Given the description of an element on the screen output the (x, y) to click on. 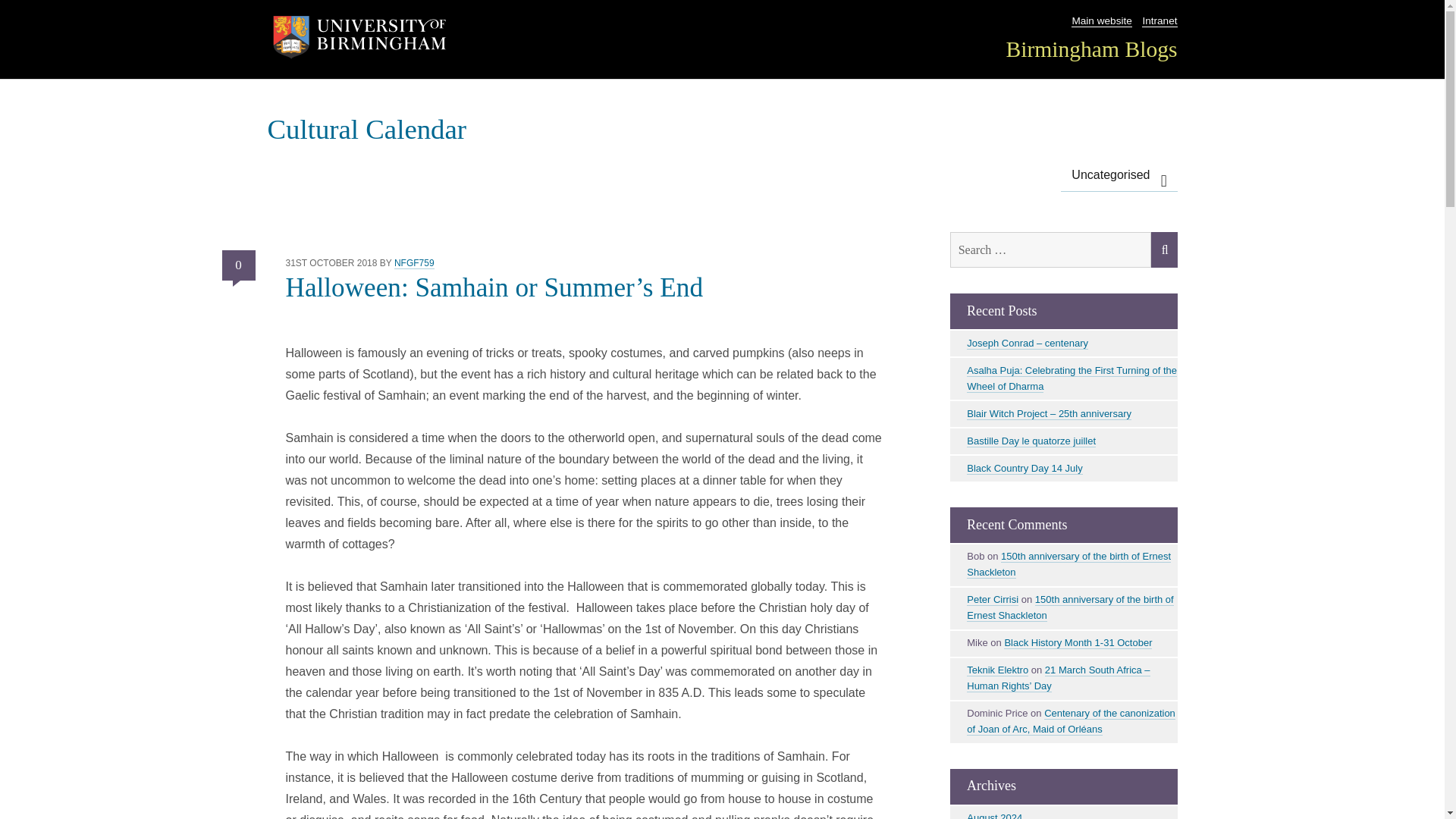
Black Country Day 14 July (1023, 468)
Posts by nfgf759 (413, 263)
Search for: (1049, 249)
Intranet (1158, 21)
Birmingham Blogs (1091, 48)
150th anniversary of the birth of Ernest Shackleton (1068, 564)
Cultural Calendar (365, 128)
Uncategorised (1118, 174)
Bastille Day le quatorze juillet (1031, 440)
NFGF759 (413, 263)
Main website (1101, 21)
